Given the description of an element on the screen output the (x, y) to click on. 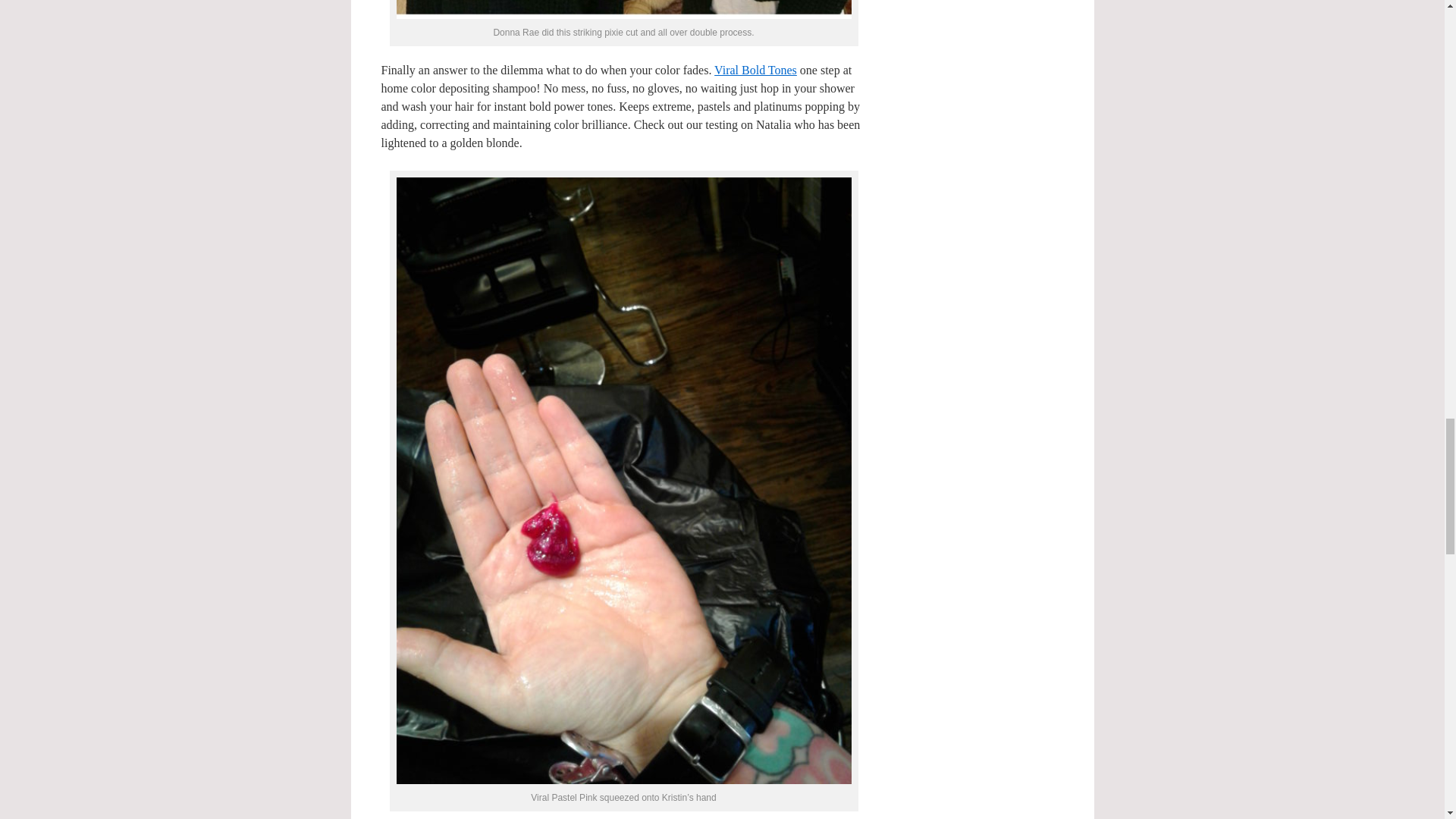
Viral Bold Tones (755, 69)
